Given the description of an element on the screen output the (x, y) to click on. 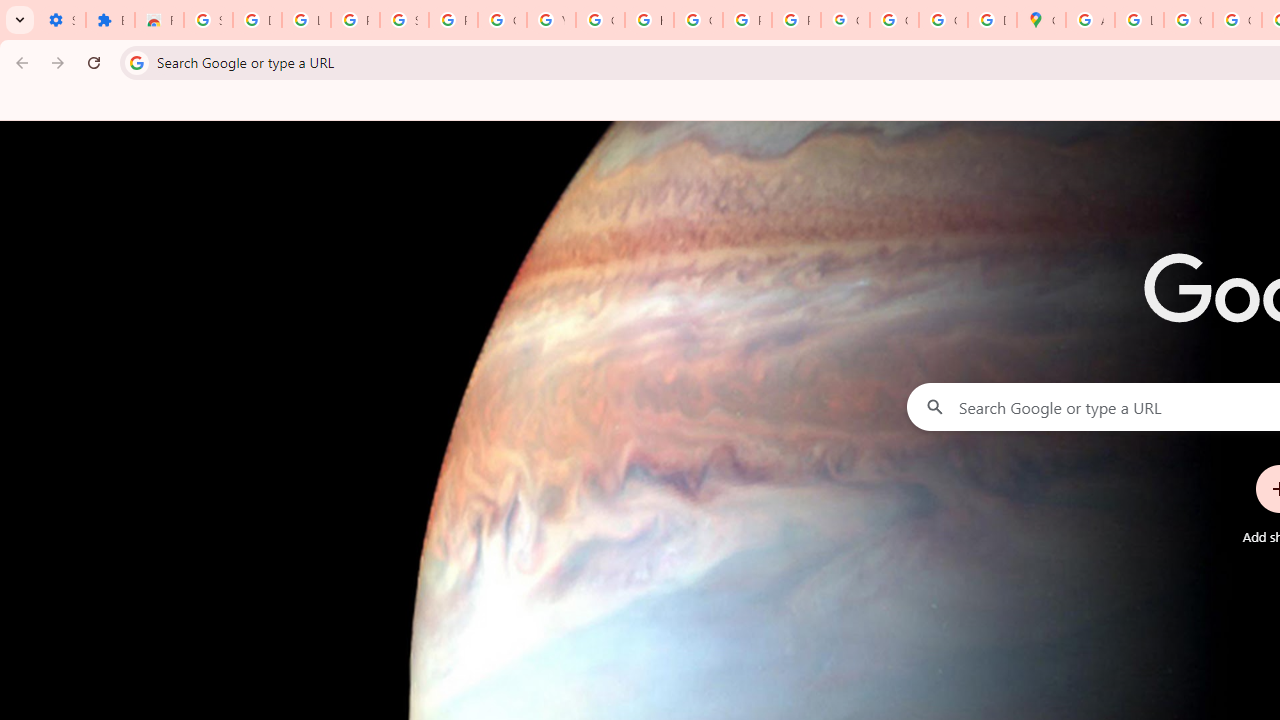
YouTube (551, 20)
https://scholar.google.com/ (649, 20)
Sign in - Google Accounts (404, 20)
Google Account (502, 20)
